Given the description of an element on the screen output the (x, y) to click on. 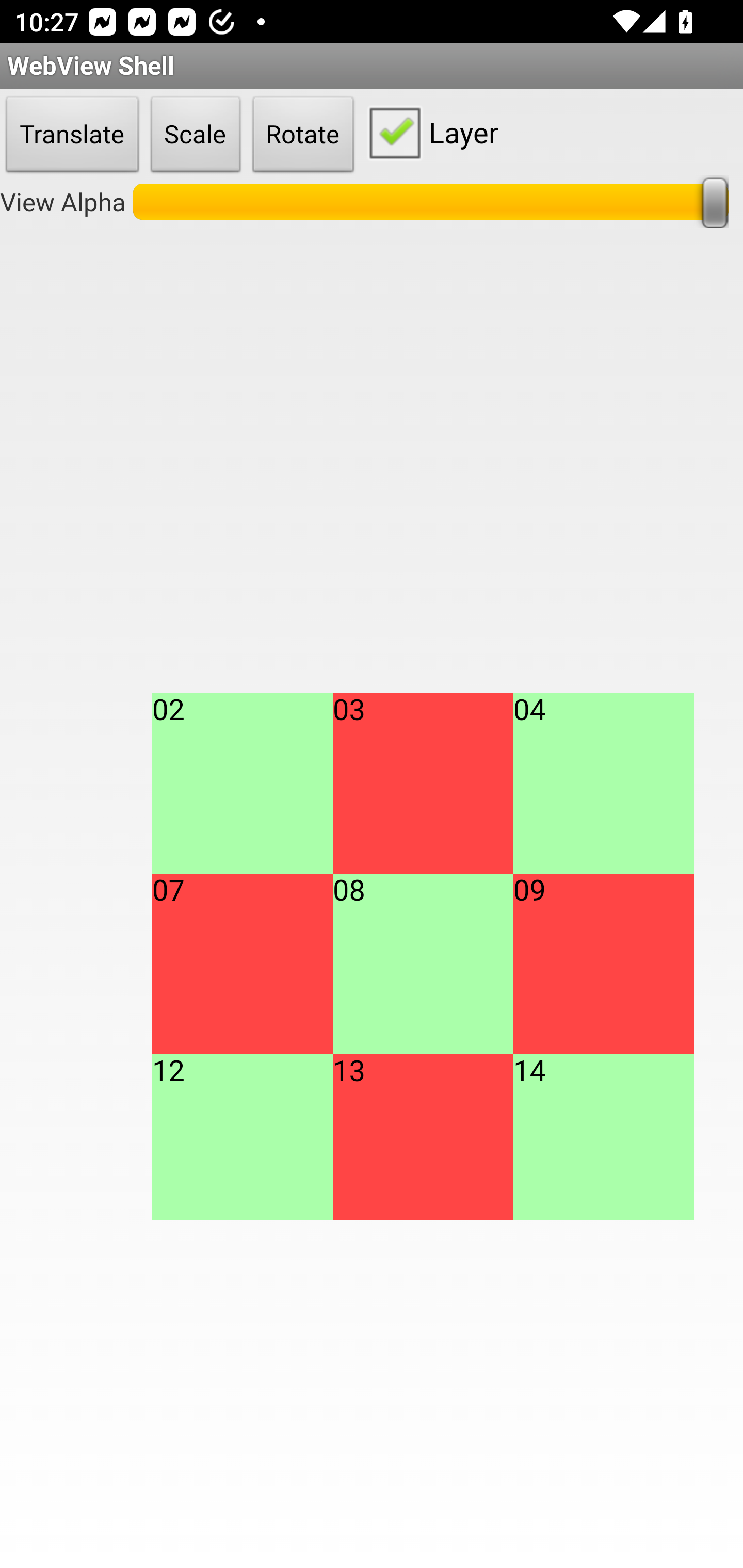
Layer (429, 132)
Translate (72, 135)
Scale (195, 135)
Rotate (303, 135)
